Given the description of an element on the screen output the (x, y) to click on. 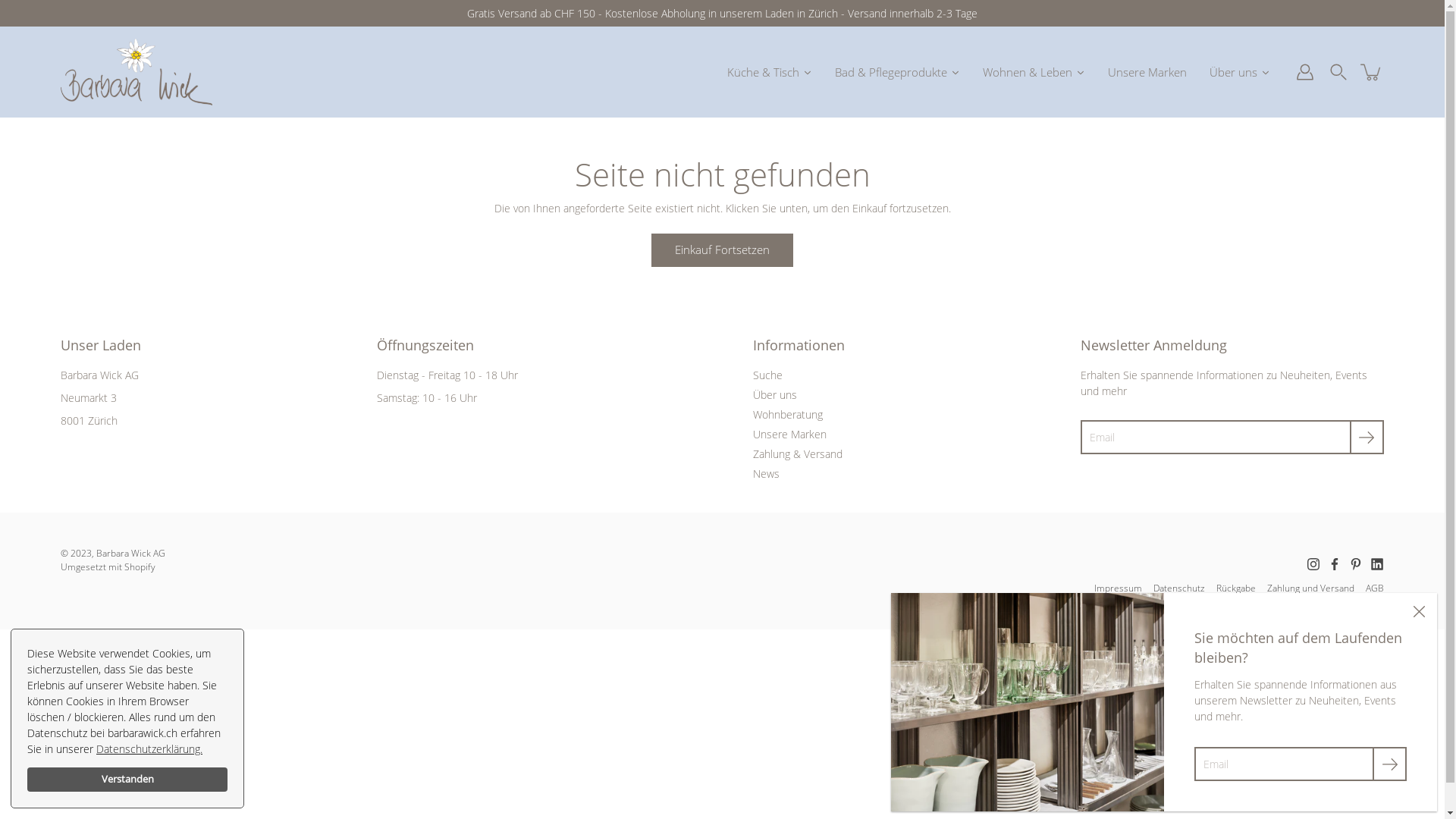
Unsere Marken Element type: text (1147, 71)
Impressum Element type: text (1118, 587)
LinkedIn Element type: text (1376, 564)
Bad & Pflegeprodukte Element type: text (897, 71)
Suche Element type: text (767, 374)
Einkauf Fortsetzen Element type: text (722, 249)
News Element type: text (766, 473)
Wohnen & Leben Element type: text (1033, 71)
Datenschutz Element type: text (1178, 587)
Unsere Marken Element type: text (789, 433)
Instagram Element type: text (1313, 564)
Barbara Wick AG Element type: text (130, 552)
Zahlung und Versand Element type: text (1310, 587)
Facebook Element type: text (1334, 564)
Verstanden Element type: text (127, 779)
Pinterest Element type: text (1355, 564)
Zahlung & Versand Element type: text (797, 453)
Wohnberatung Element type: text (787, 414)
AGB Element type: text (1374, 587)
